Given the description of an element on the screen output the (x, y) to click on. 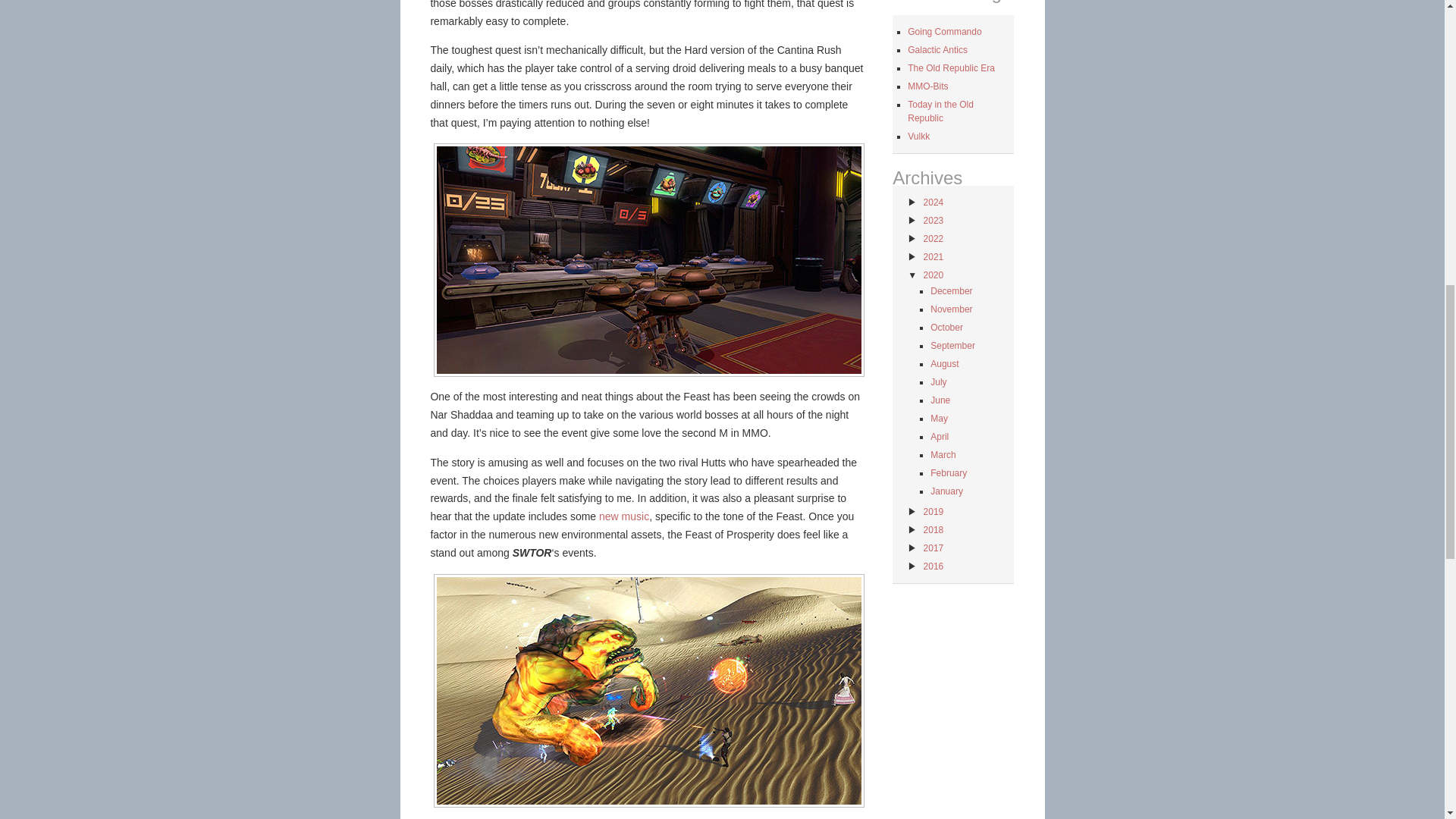
MMO-Bits (927, 86)
new music (623, 516)
Going Commando (944, 31)
Today in the Old Republic (940, 111)
The Old Republic Era (950, 68)
Galactic Antics (937, 50)
